Given the description of an element on the screen output the (x, y) to click on. 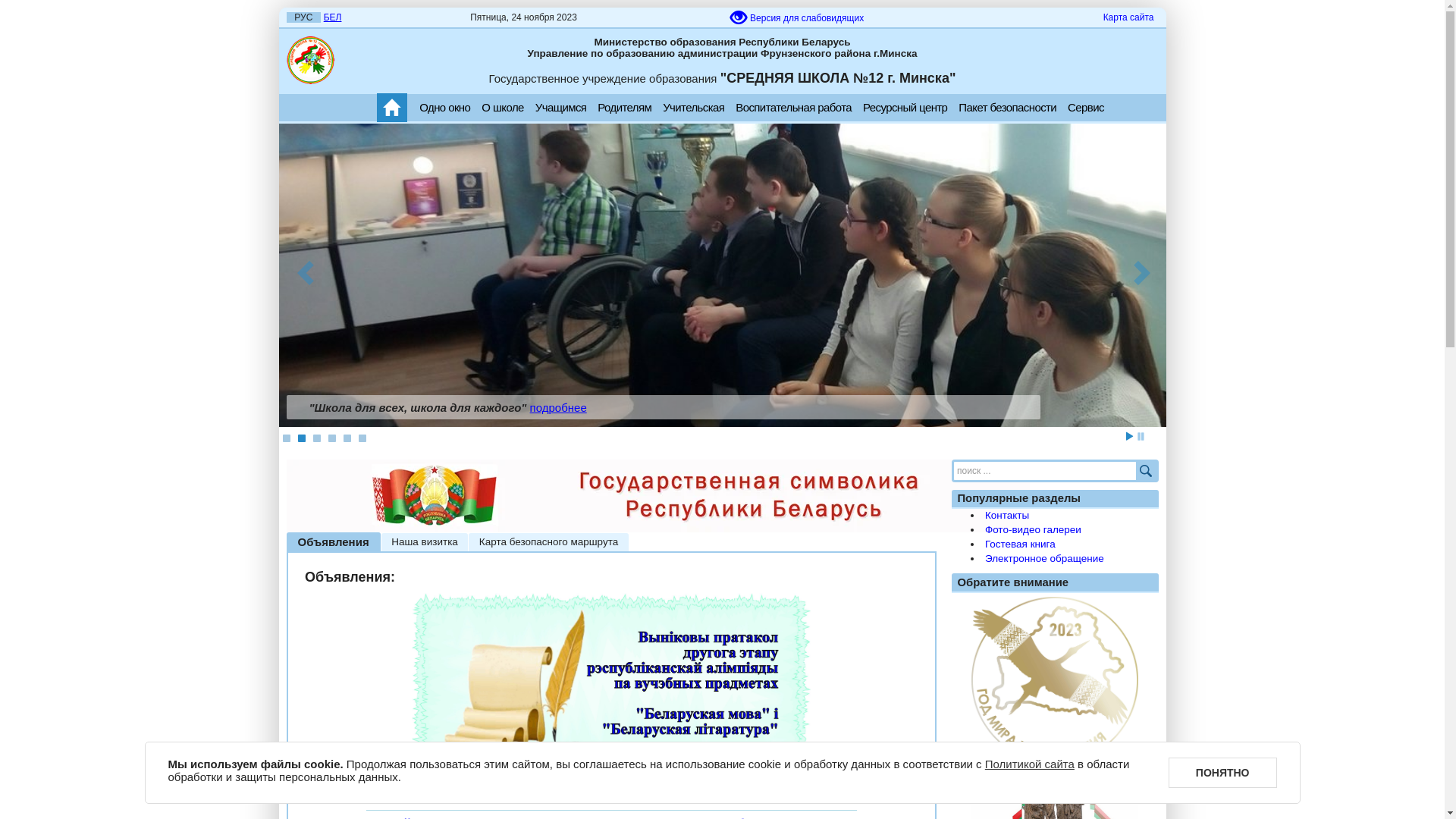
4 Element type: text (331, 438)
2 Element type: text (300, 438)
3 Element type: text (316, 438)
1 Element type: text (285, 438)
6 Element type: text (361, 438)
5 Element type: text (346, 438)
